Given the description of an element on the screen output the (x, y) to click on. 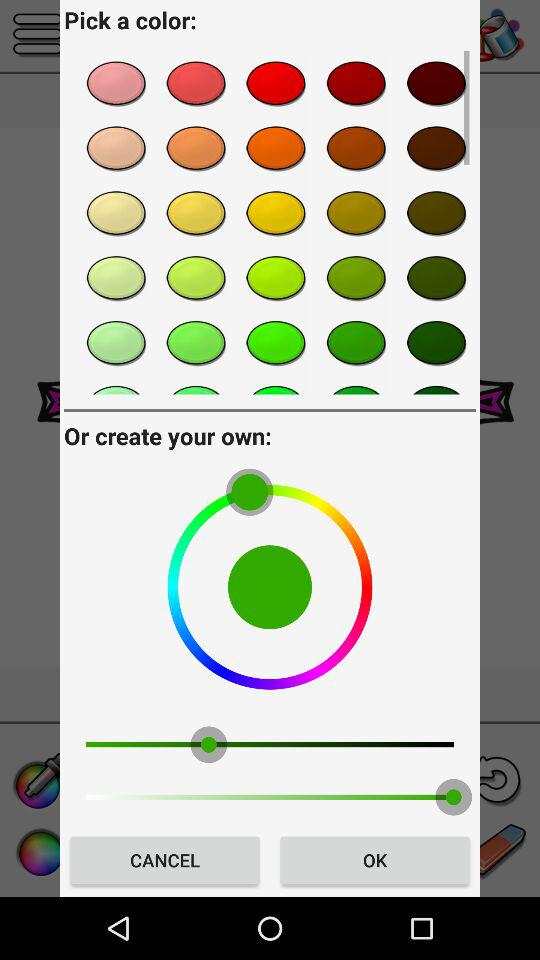
tap icon at the bottom left corner (164, 859)
